Given the description of an element on the screen output the (x, y) to click on. 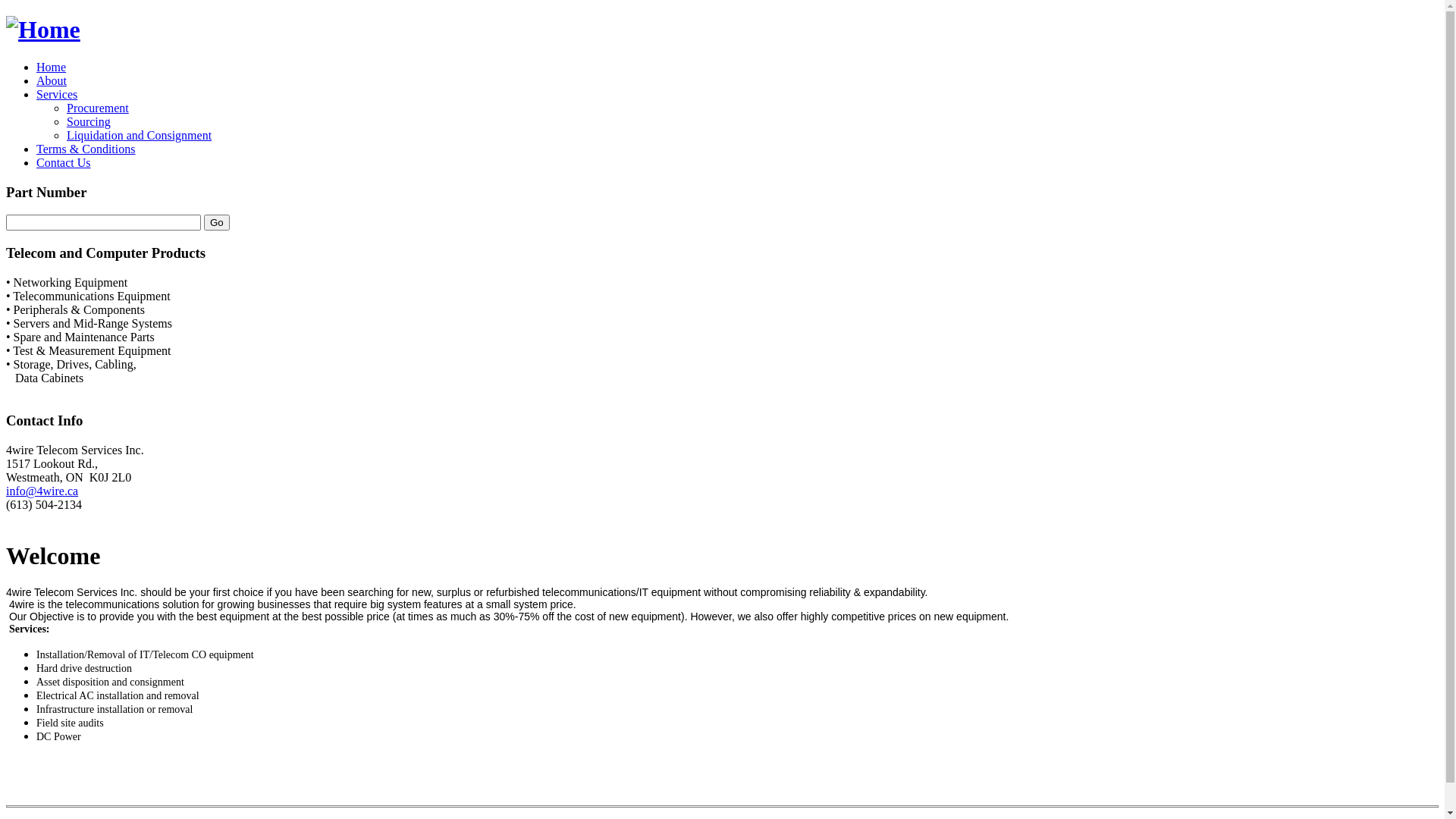
Sourcing Element type: text (88, 121)
Home Element type: hover (43, 29)
Go Element type: text (216, 222)
Liquidation and Consignment Element type: text (138, 134)
Procurement Element type: text (97, 107)
info@4wire.ca Element type: text (42, 490)
Contact Us Element type: text (63, 162)
Services Element type: text (56, 93)
Home Element type: text (50, 66)
Terms & Conditions Element type: text (85, 148)
About Element type: text (51, 80)
